Given the description of an element on the screen output the (x, y) to click on. 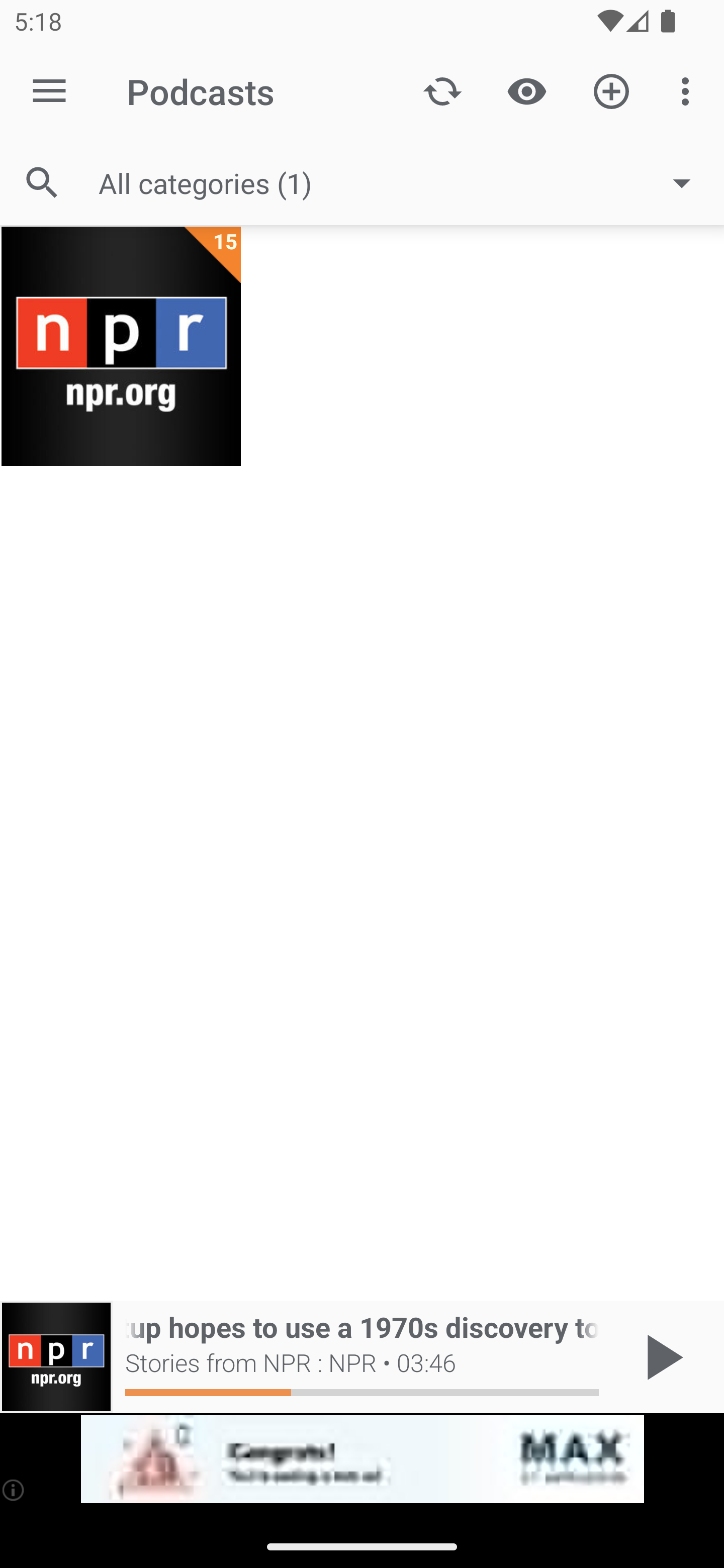
Open navigation sidebar (49, 91)
Update (442, 90)
Show / Hide played content (526, 90)
Add new Podcast (611, 90)
More options (688, 90)
Search (42, 183)
All categories (1) (404, 182)
Stories from NPR : NPR 15 (121, 346)
Play / Pause (660, 1356)
app-monetization (362, 1459)
(i) (14, 1489)
